Given the description of an element on the screen output the (x, y) to click on. 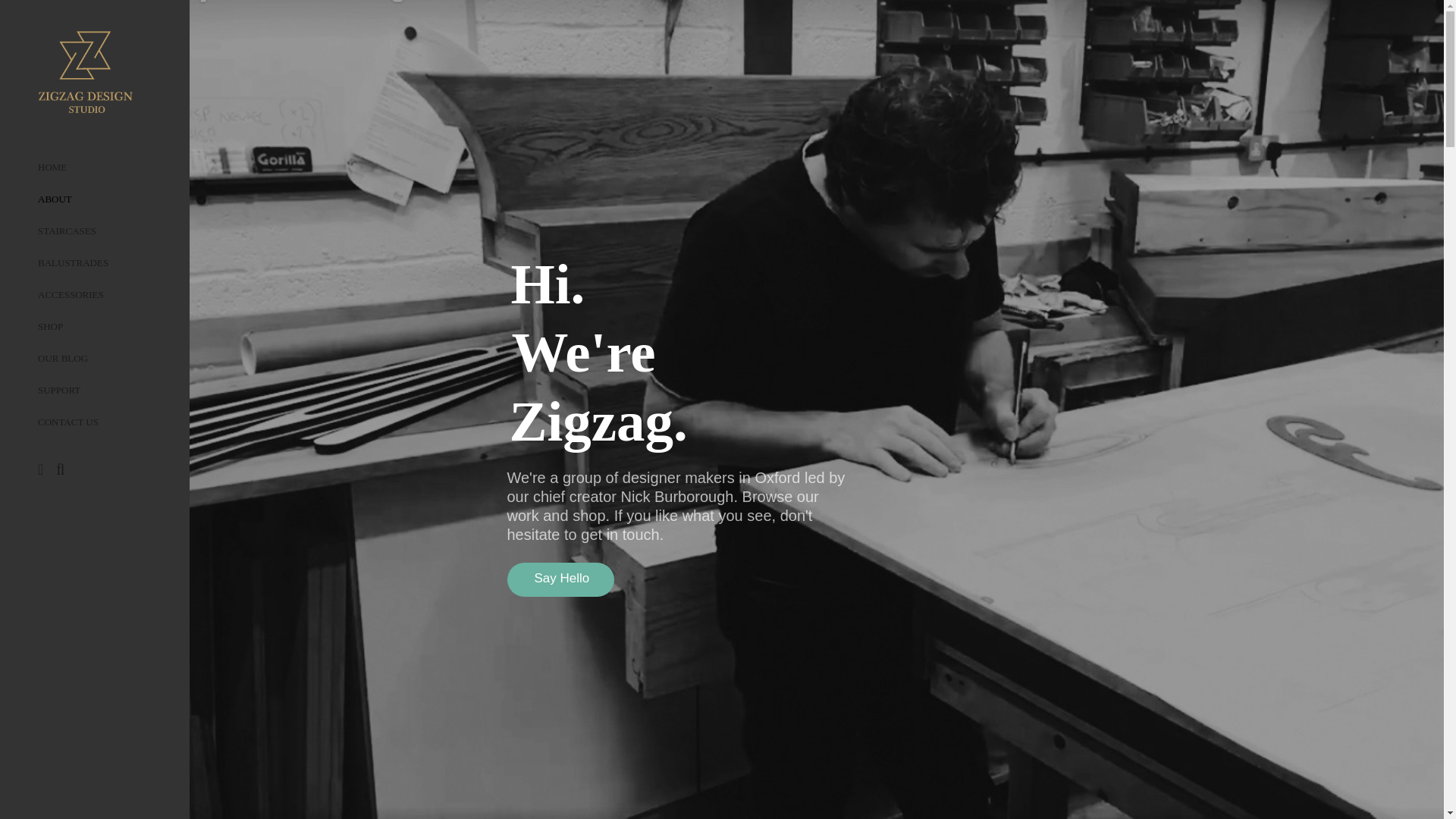
www.zigzagdesignstudio.co.uk (52, 166)
